Given the description of an element on the screen output the (x, y) to click on. 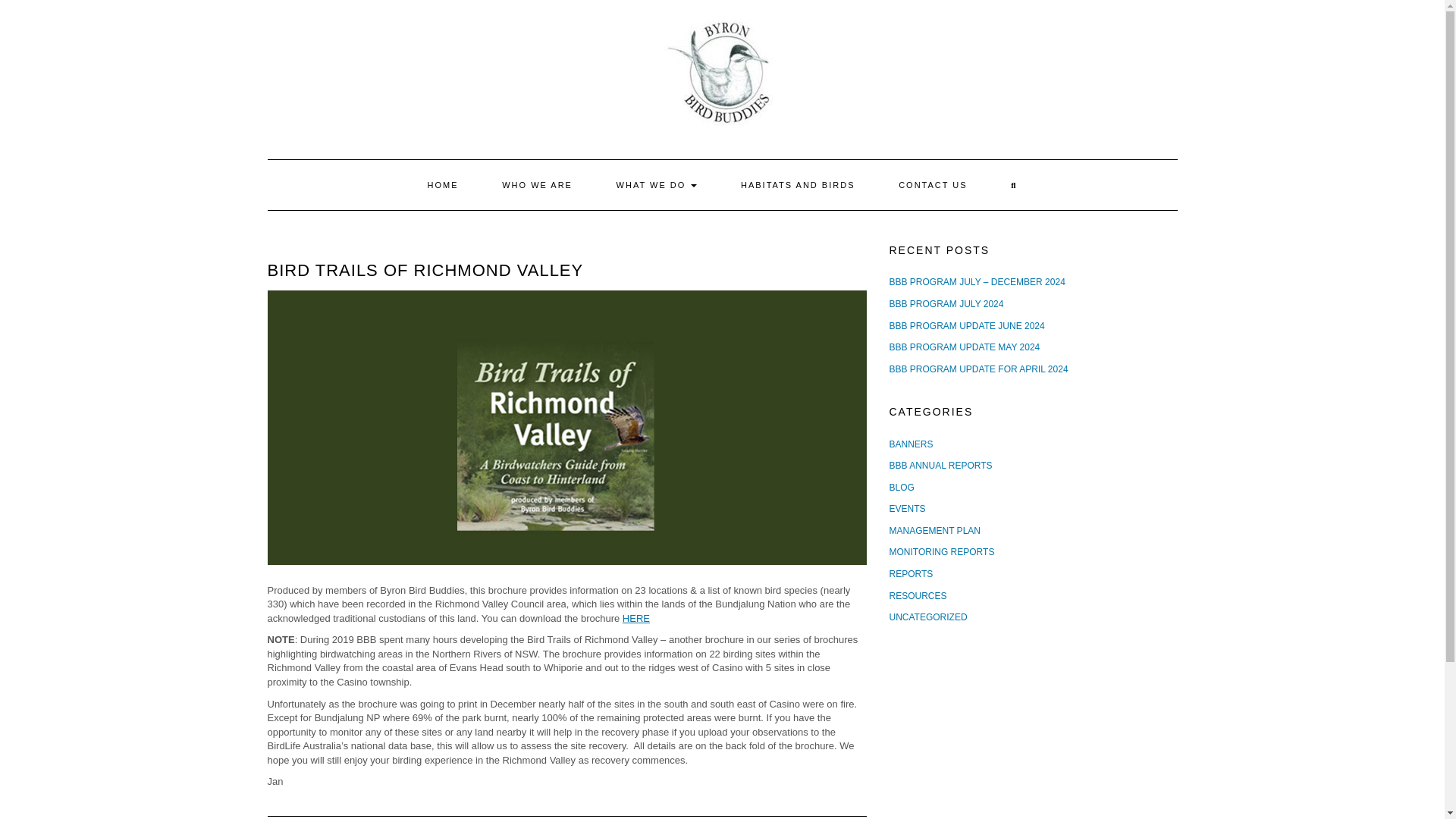
BBB PROGRAM UPDATE JUNE 2024 (965, 326)
MONITORING REPORTS (941, 552)
WHO WE ARE (536, 184)
WHAT WE DO (656, 184)
HABITATS AND BIRDS (798, 184)
BANNERS (910, 443)
MANAGEMENT PLAN (933, 530)
CONTACT US (932, 184)
RESOURCES (917, 595)
REPORTS (910, 573)
